Given the description of an element on the screen output the (x, y) to click on. 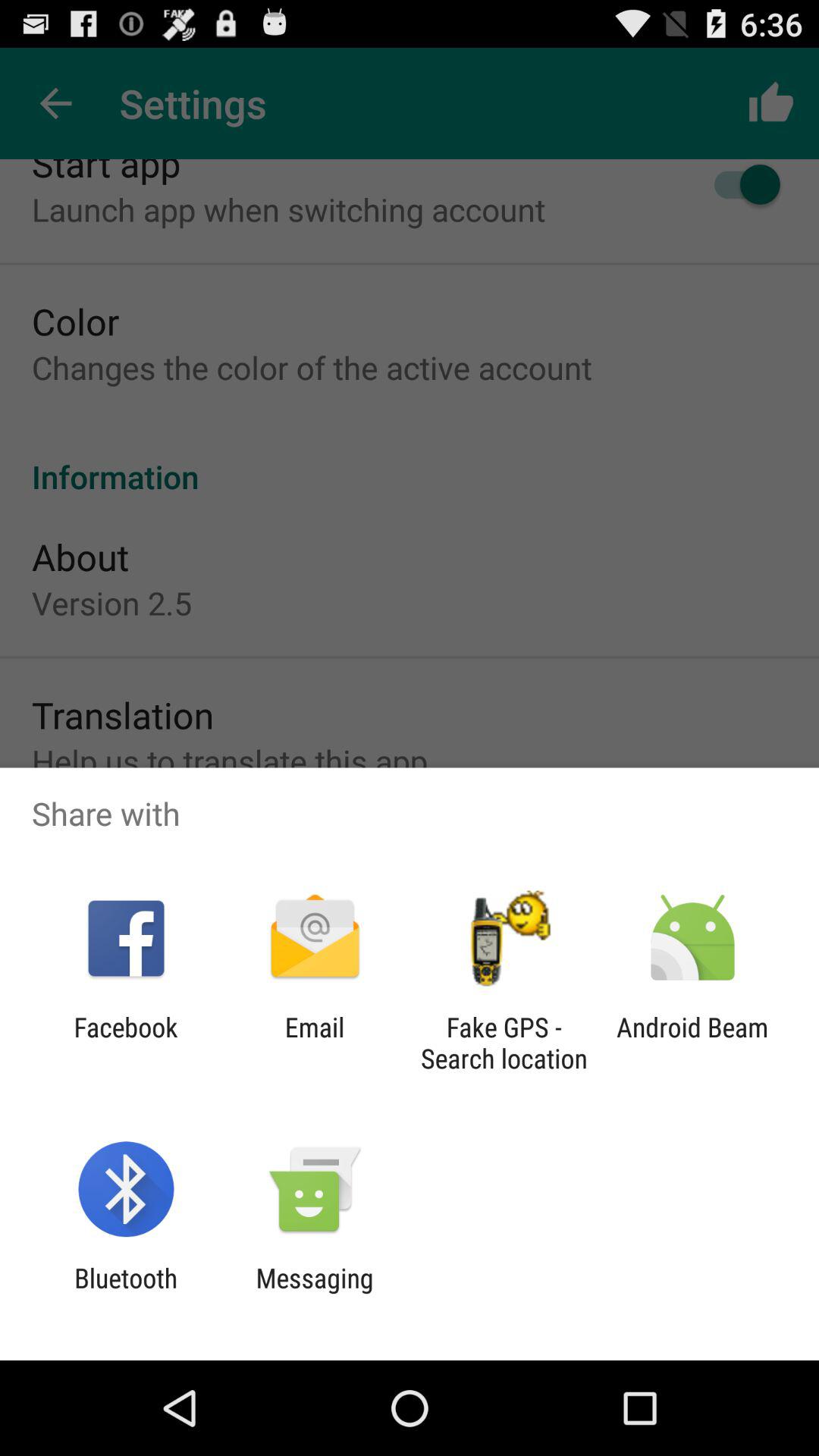
turn on icon next to fake gps search (314, 1042)
